Given the description of an element on the screen output the (x, y) to click on. 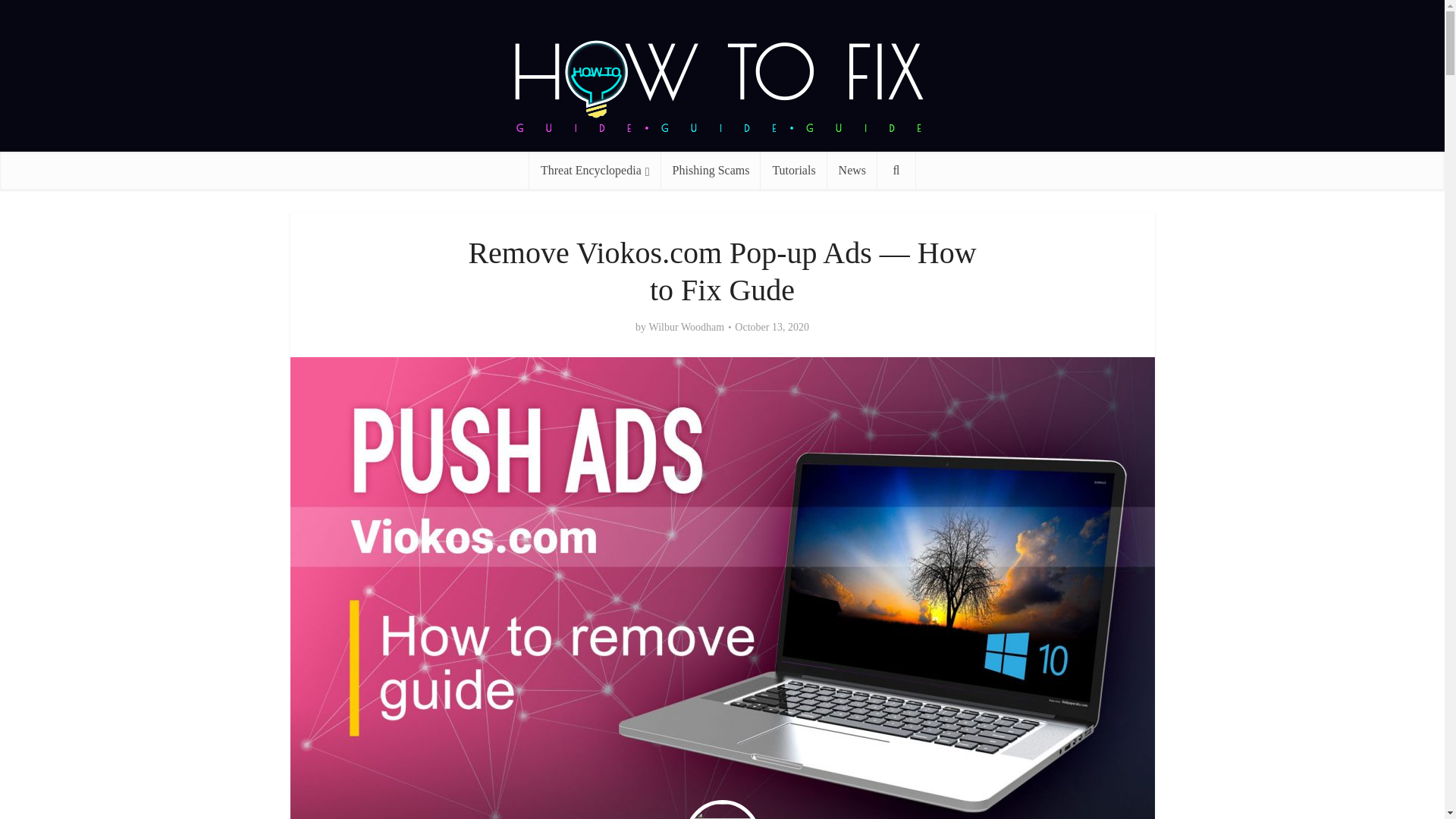
Phishing Scams (711, 170)
Threat Encyclopedia (595, 170)
Wilbur Woodham (687, 327)
News (852, 170)
Tutorials (793, 170)
